Given the description of an element on the screen output the (x, y) to click on. 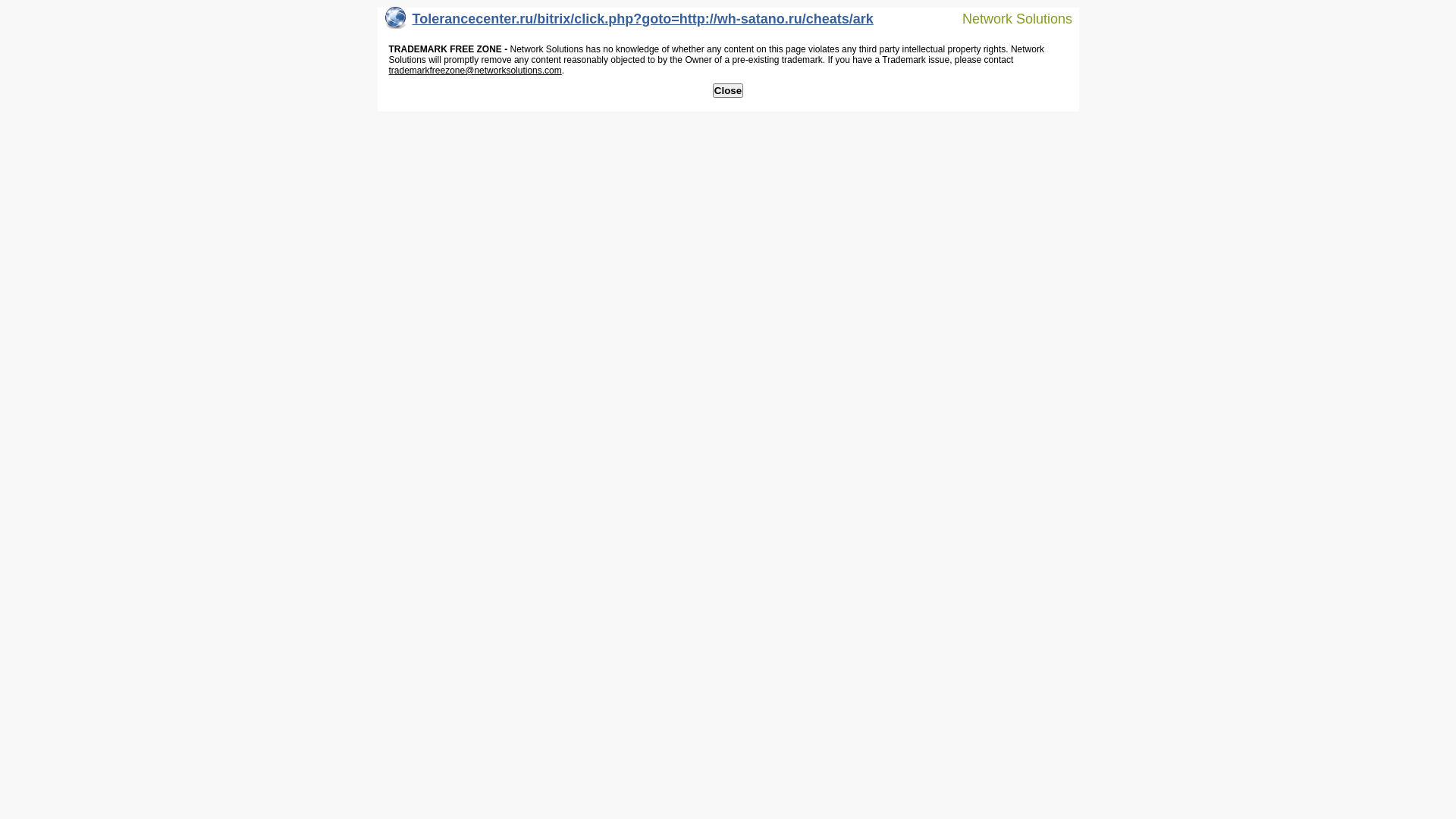
Network Solutions Element type: text (1007, 17)
trademarkfreezone@networksolutions.com Element type: text (474, 70)
Close Element type: text (727, 90)
